Given the description of an element on the screen output the (x, y) to click on. 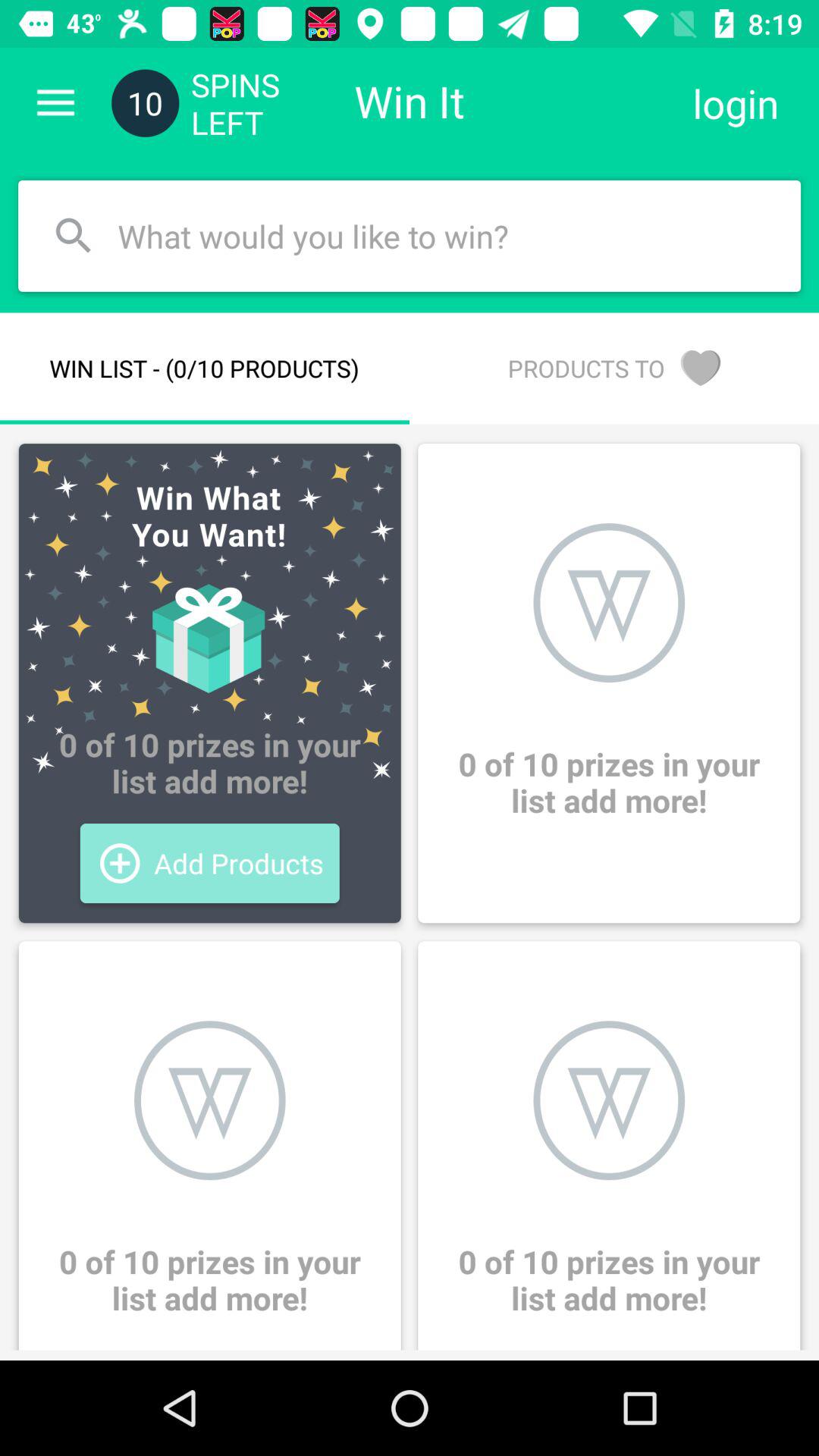
click the icon to the right of win it icon (735, 102)
